Given the description of an element on the screen output the (x, y) to click on. 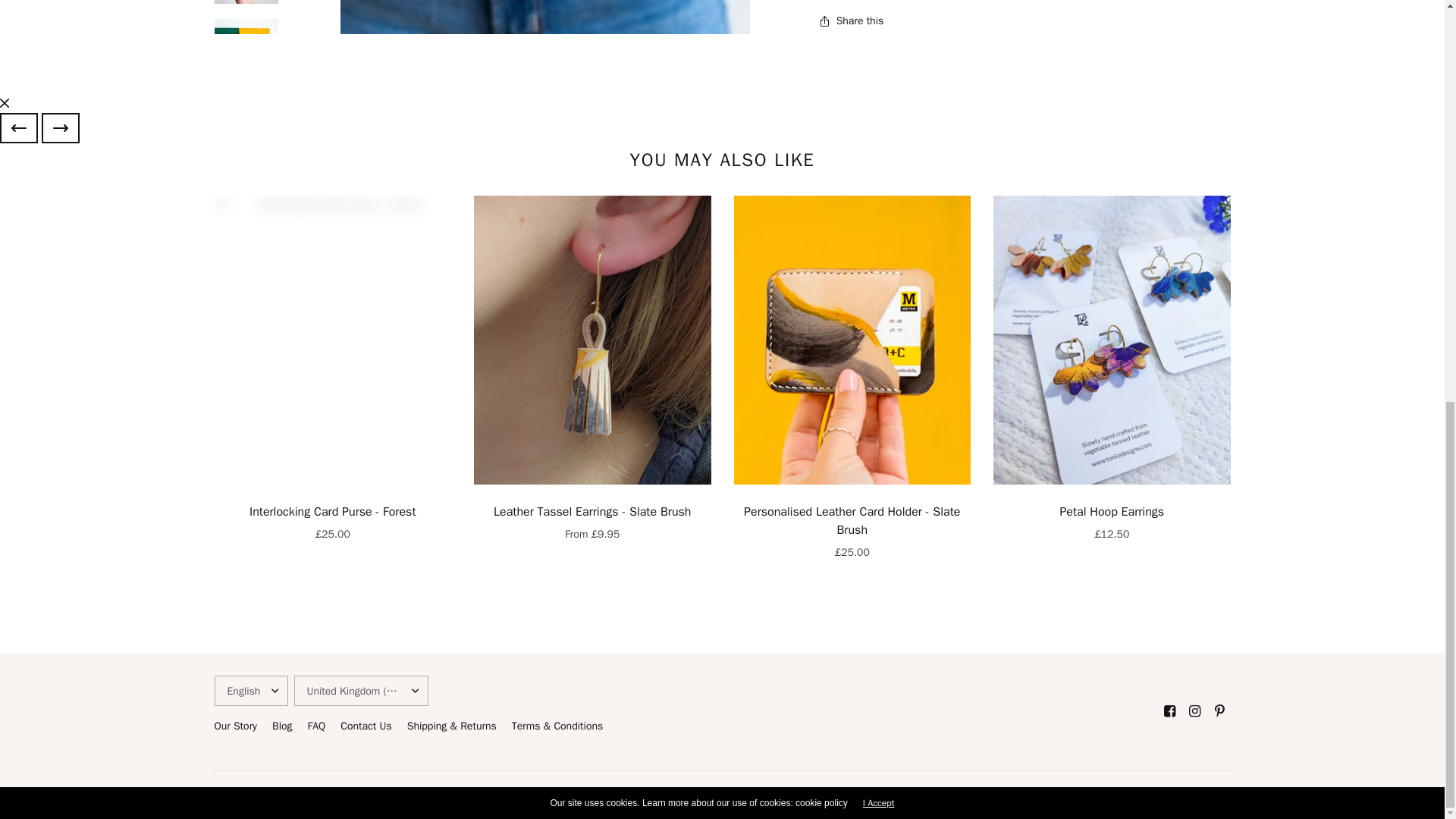
American Express (933, 795)
PayPal (1123, 795)
Diners Club (997, 795)
Visa (1218, 795)
Shop Pay (1154, 795)
Maestro (1060, 795)
Union Pay (1186, 795)
Mastercard (1091, 795)
Discover (1028, 795)
Apple Pay (965, 795)
